Given the description of an element on the screen output the (x, y) to click on. 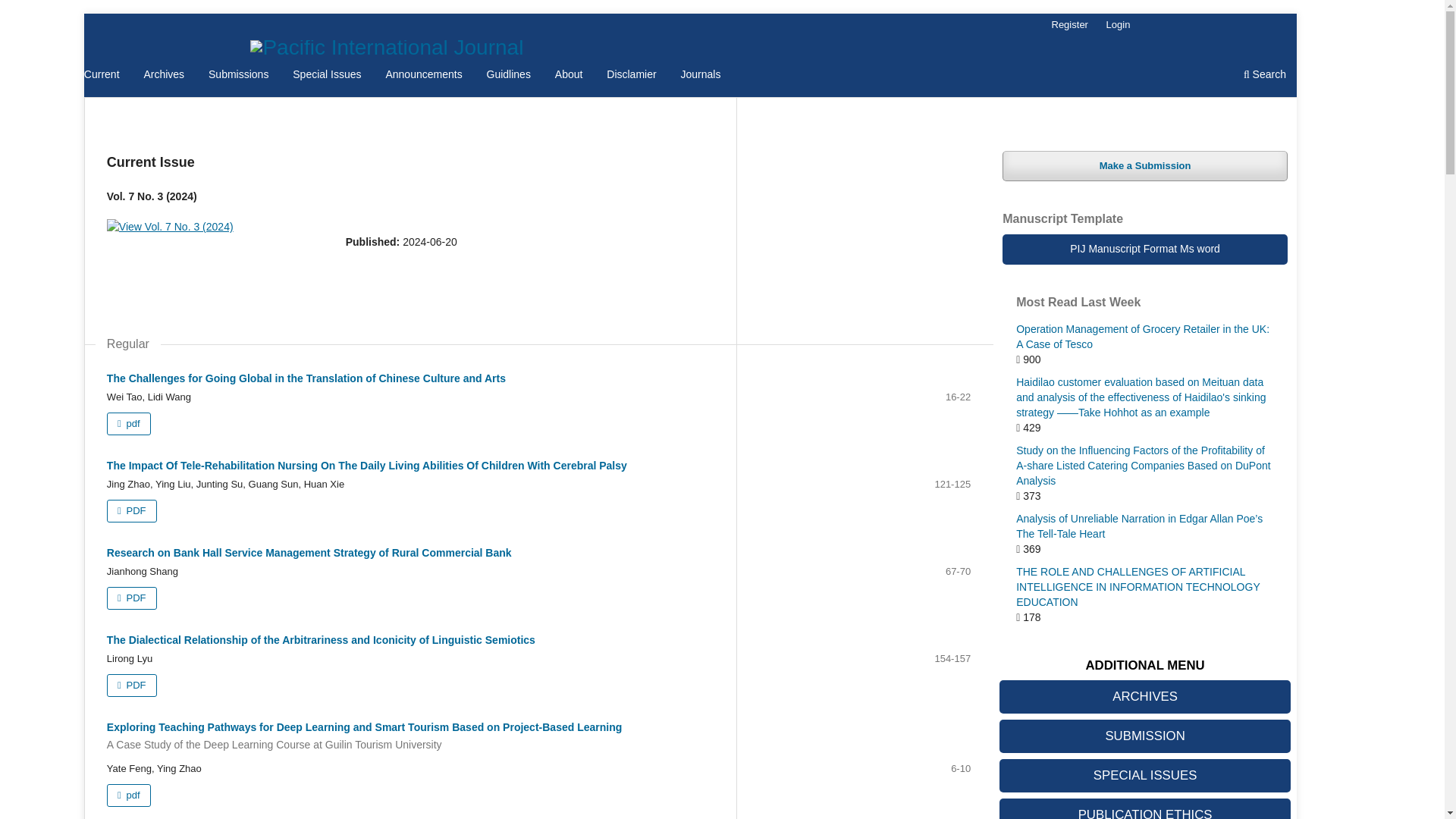
Register (1068, 24)
Guidlines (508, 76)
pdf (128, 423)
Current (101, 76)
PDF (131, 598)
Special Issues (326, 76)
Archives (163, 76)
Journals (700, 76)
PDF (131, 685)
About (569, 76)
PDF (131, 510)
